Given the description of an element on the screen output the (x, y) to click on. 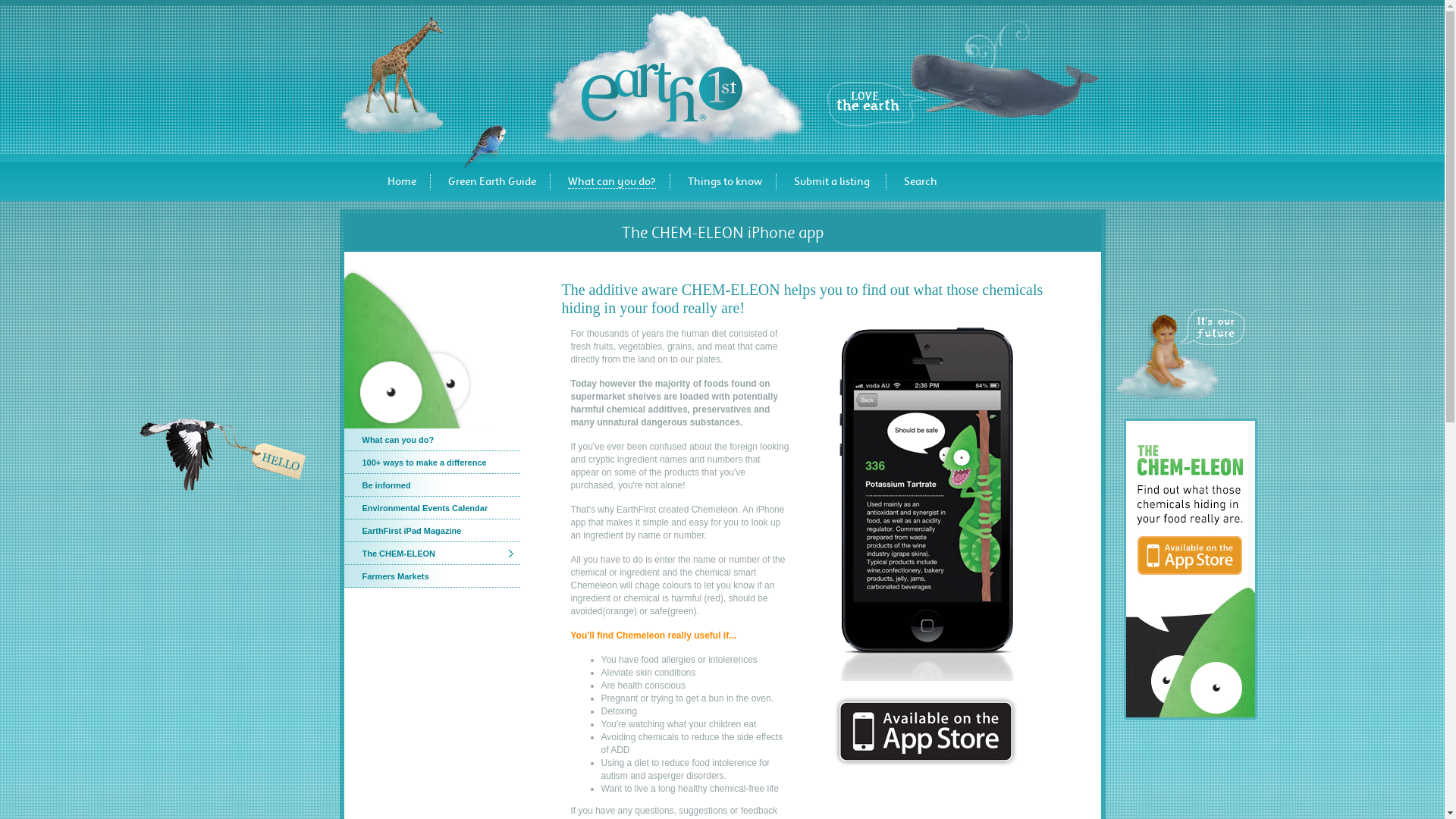
EarthFirst iPad Magazine Element type: text (437, 530)
Visit the The CHEM-ELEON iPhone appwebsite. Element type: hover (1189, 714)
Farmers Markets Element type: text (437, 575)
Submit Element type: text (950, 181)
Green Earth Guide Element type: text (490, 182)
Things to know Element type: text (723, 182)
earth first Element type: text (660, 92)
100+ ways to make a difference Element type: text (437, 462)
Home Element type: text (400, 182)
Be informed Element type: text (437, 484)
Submit a listing Element type: text (830, 182)
Environmental Events Calendar Element type: text (437, 507)
The CHEM-ELEON Element type: text (437, 553)
What can you do? Element type: text (610, 182)
What can you do? Element type: text (437, 439)
